Given the description of an element on the screen output the (x, y) to click on. 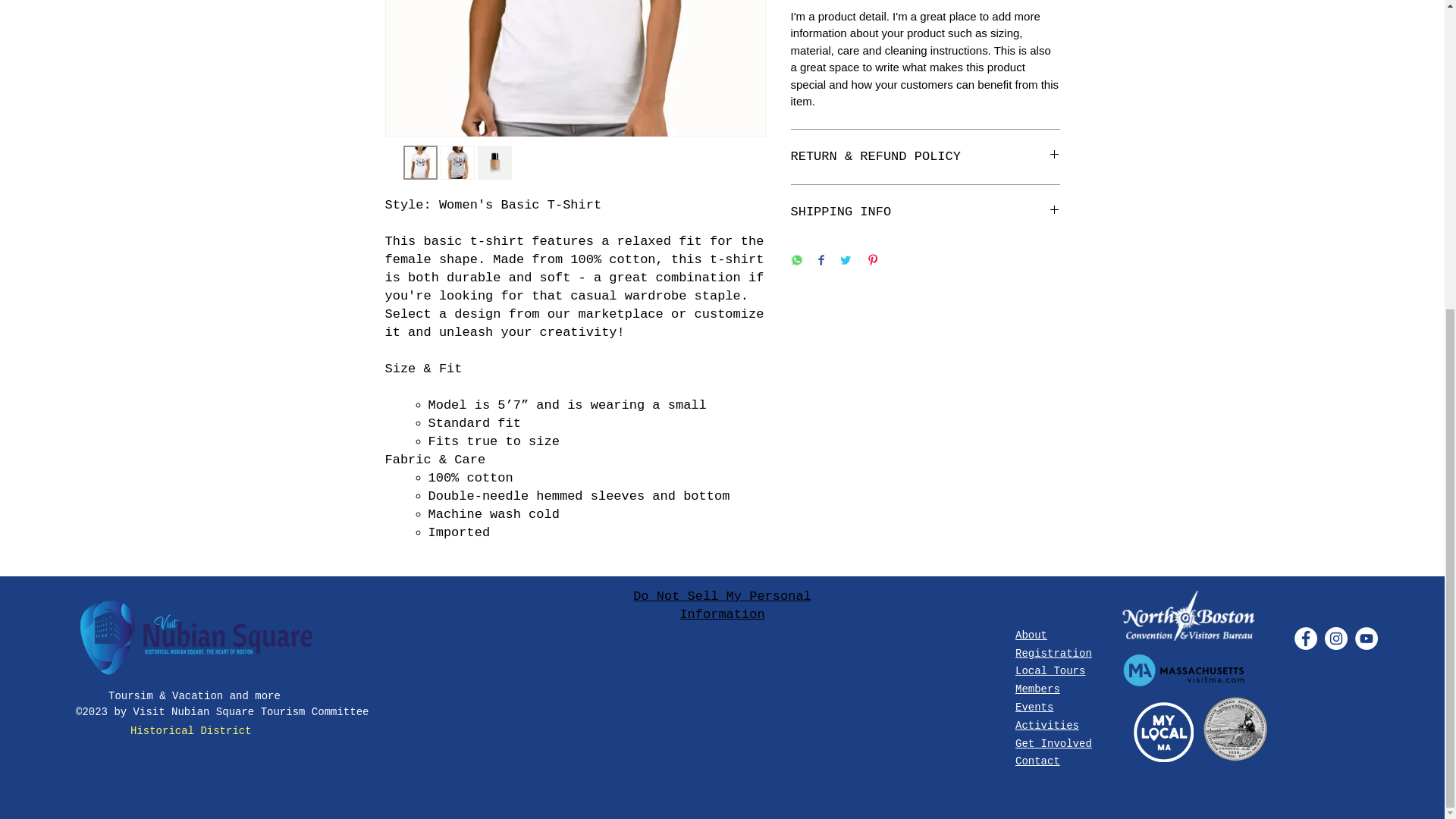
SHIPPING INFO (924, 212)
Smile.io Rewards Program Launcher (68, 291)
